Given the description of an element on the screen output the (x, y) to click on. 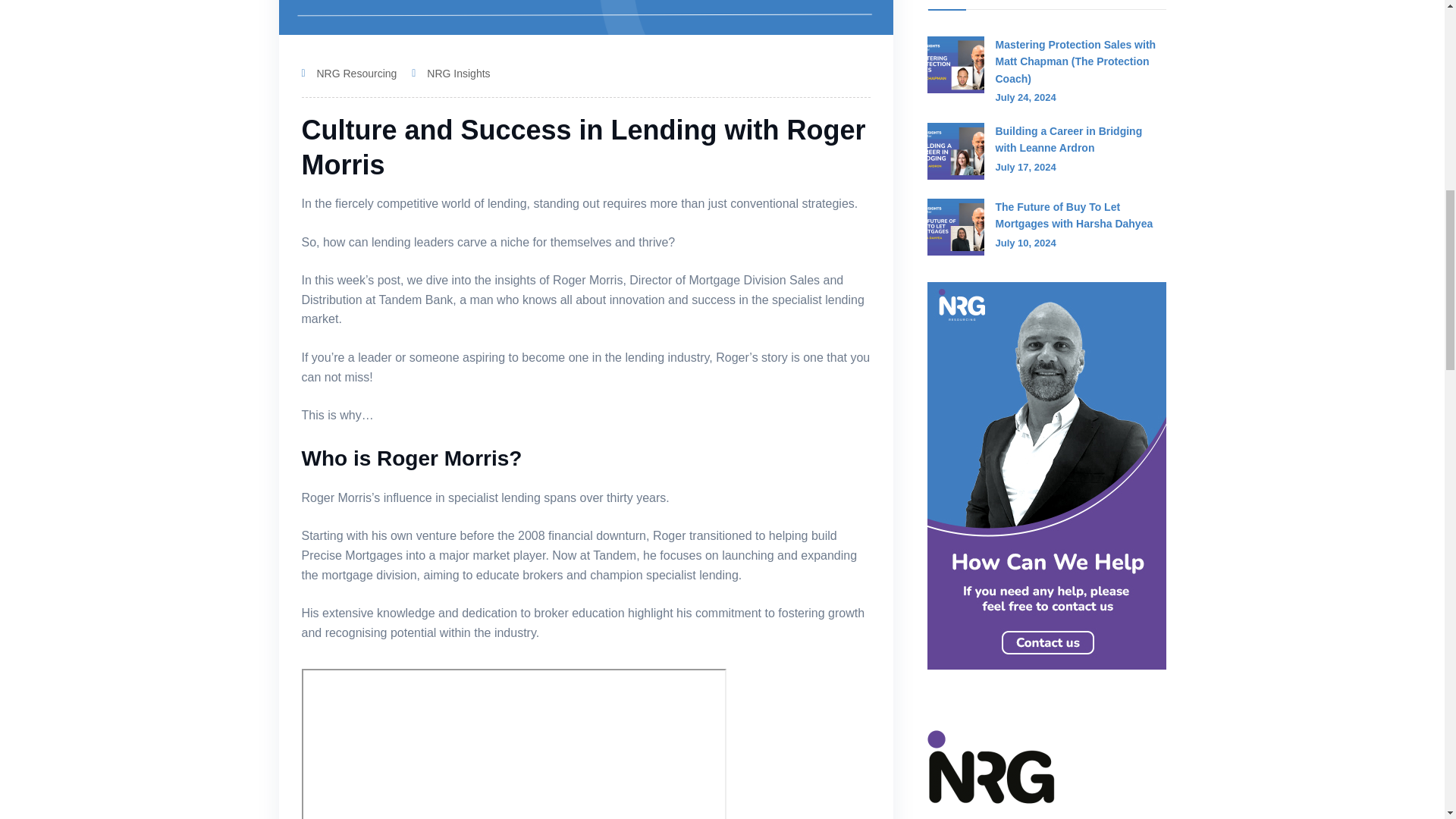
NRG Resourcing (357, 73)
NRG Insights (457, 73)
YouTube video player (513, 744)
